Given the description of an element on the screen output the (x, y) to click on. 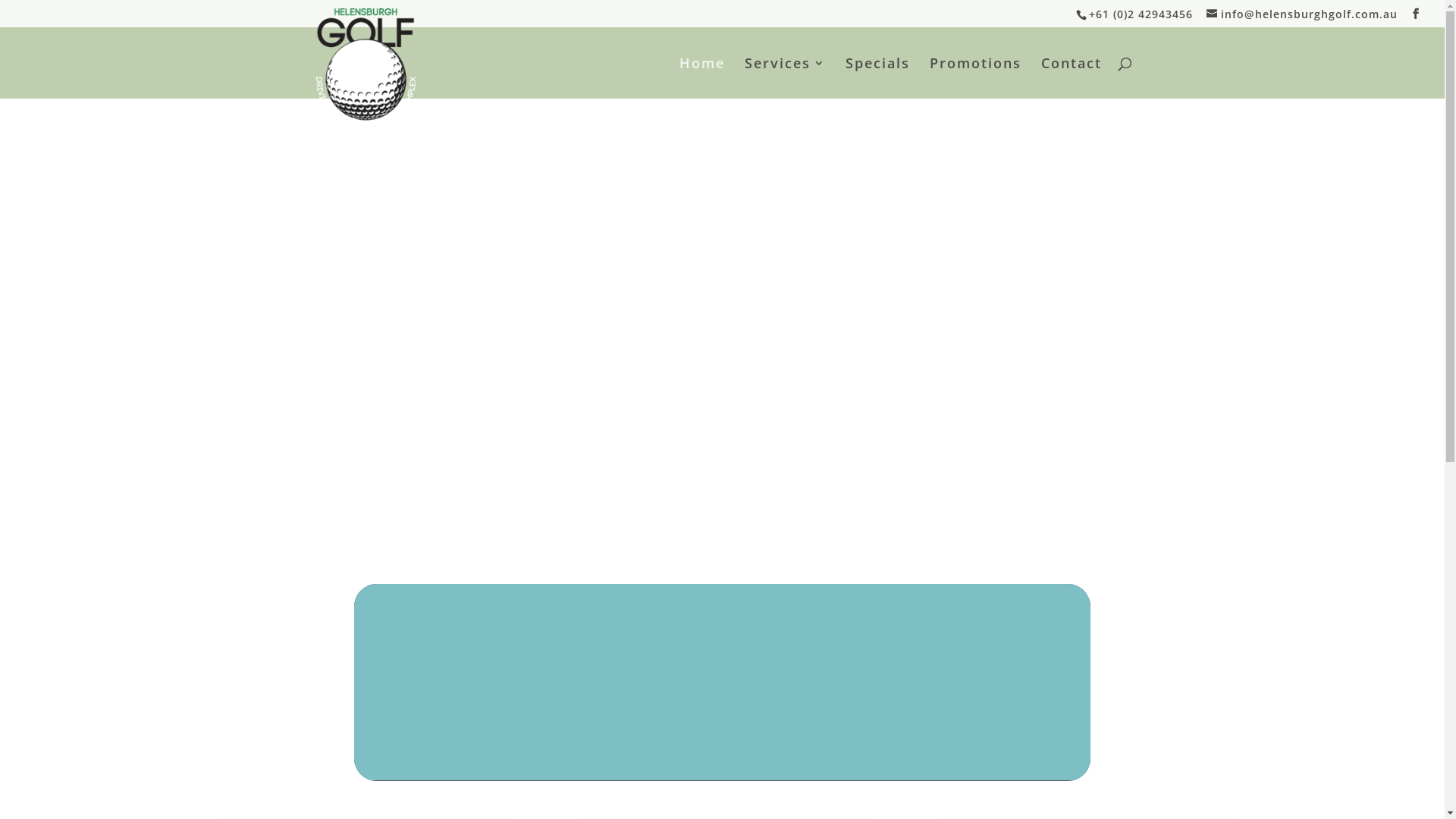
Contact Element type: text (1070, 77)
info@helensburghgolf.com.au Element type: text (1301, 13)
Promotions Element type: text (975, 77)
Specials Element type: text (876, 77)
Services Element type: text (784, 77)
Home Element type: text (701, 77)
